Given the description of an element on the screen output the (x, y) to click on. 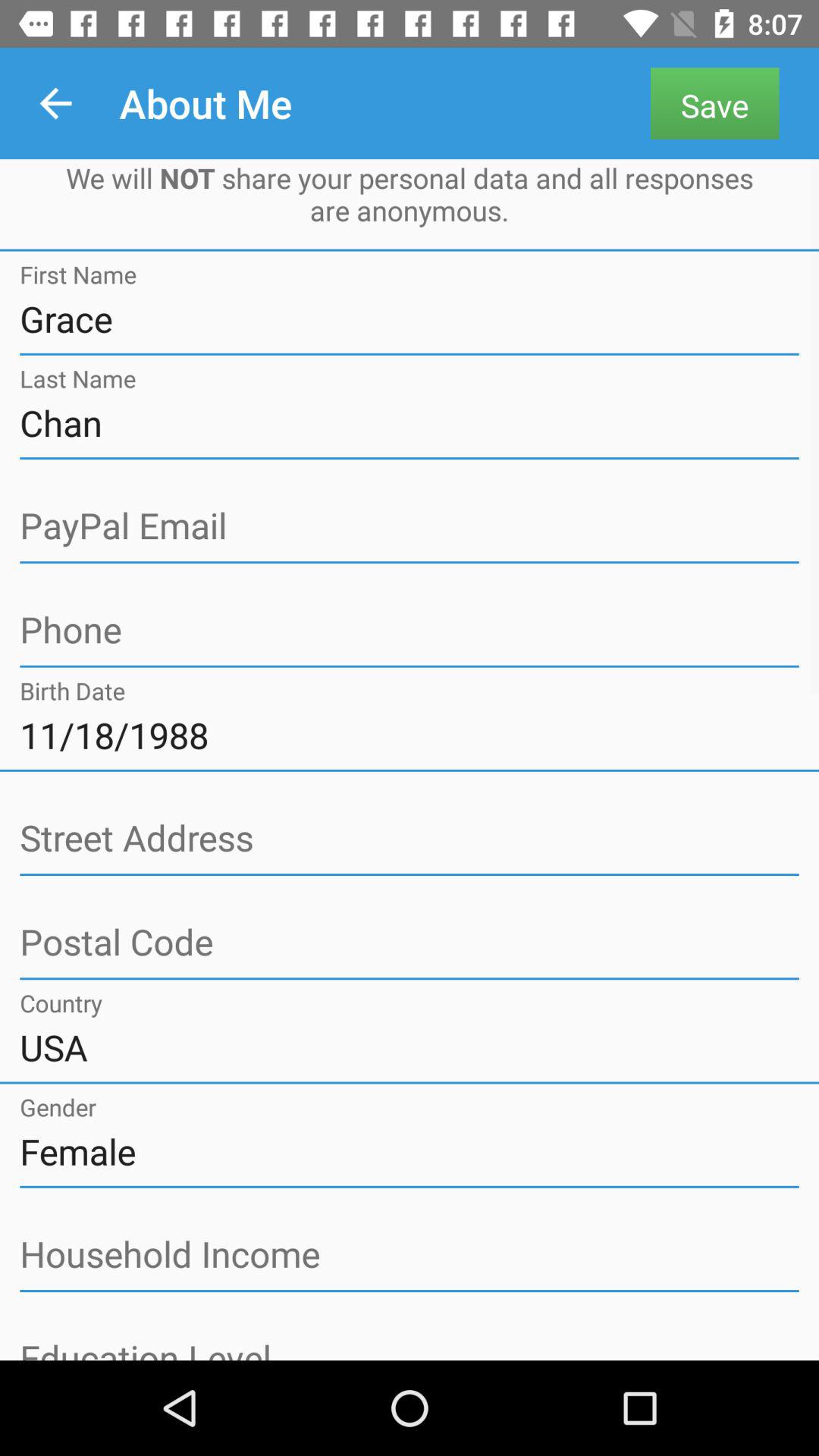
save the file (409, 630)
